Given the description of an element on the screen output the (x, y) to click on. 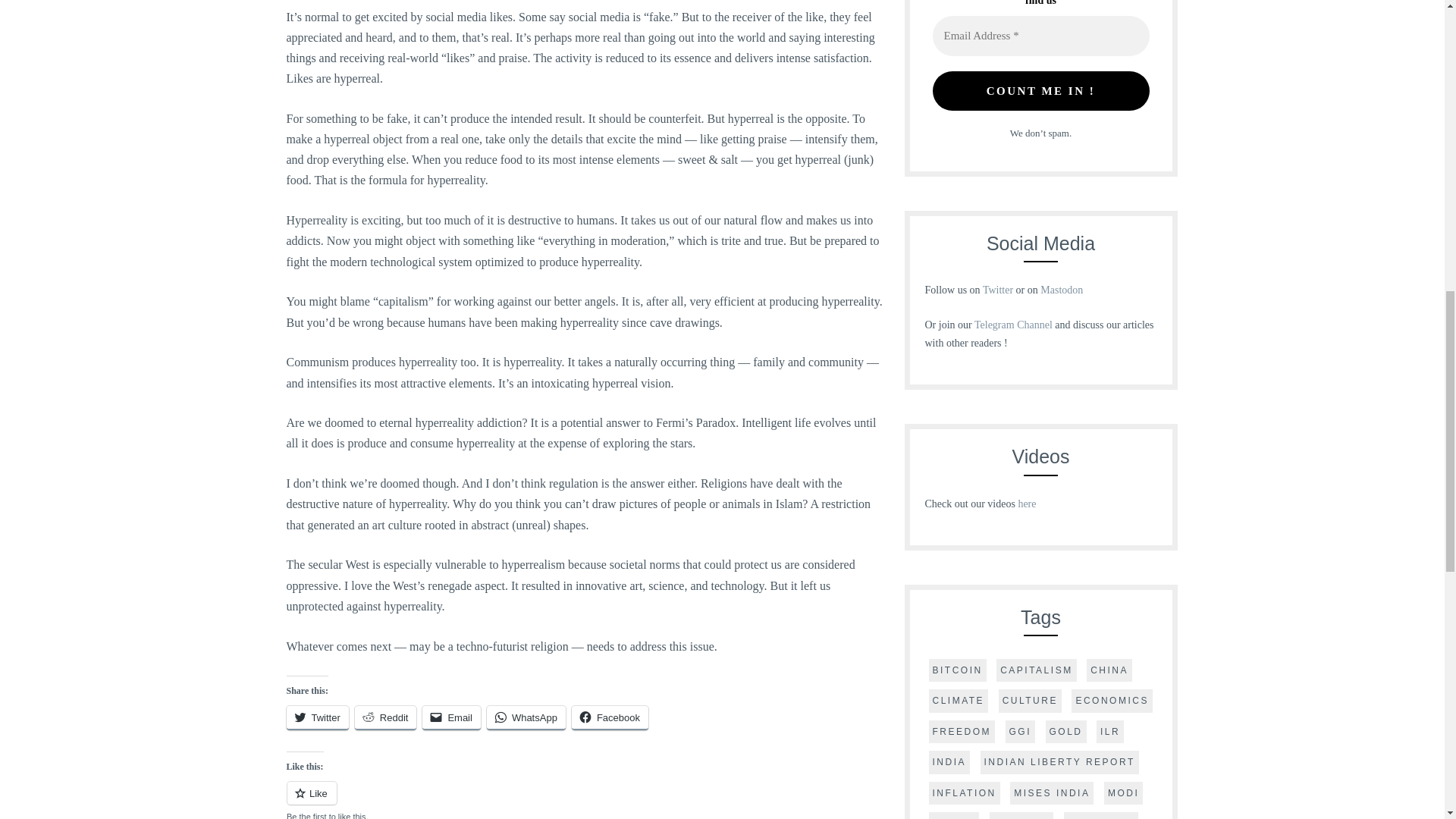
Click to share on Reddit (385, 717)
Facebook (609, 717)
Reddit (385, 717)
Like or Reblog (585, 800)
Count me in ! (1041, 91)
Click to email a link to a friend (451, 717)
Twitter (317, 717)
Click to share on Twitter (317, 717)
Click to share on Facebook (609, 717)
WhatsApp (526, 717)
Email (451, 717)
Email Address (1041, 35)
Click to share on WhatsApp (526, 717)
